Given the description of an element on the screen output the (x, y) to click on. 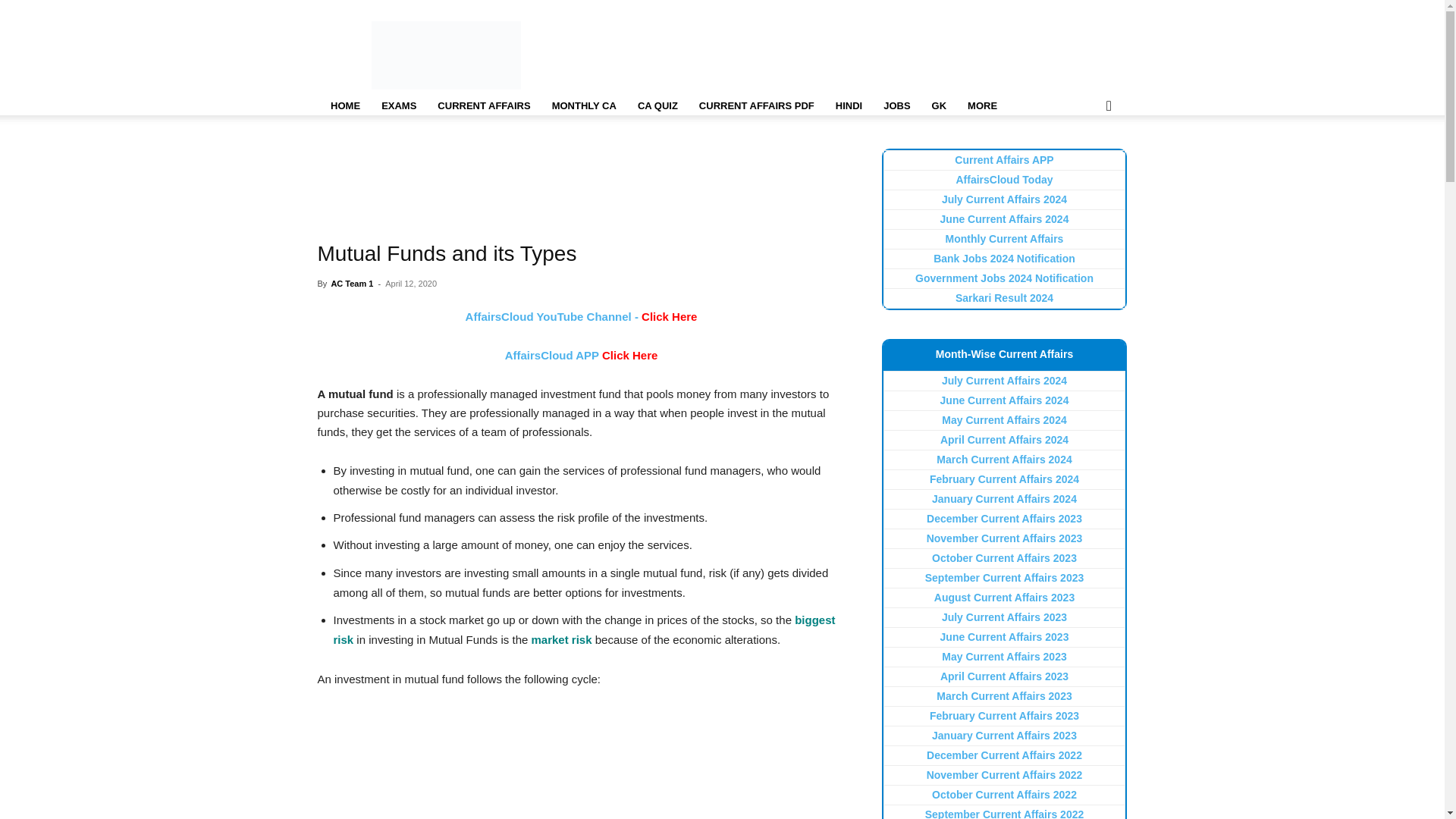
Current Affairs PDF (756, 105)
Current Affairs Hindi (848, 105)
AffairsCloud (446, 55)
Home (344, 105)
Current Affairs Quiz (657, 105)
Current Affairs (483, 105)
